Given the description of an element on the screen output the (x, y) to click on. 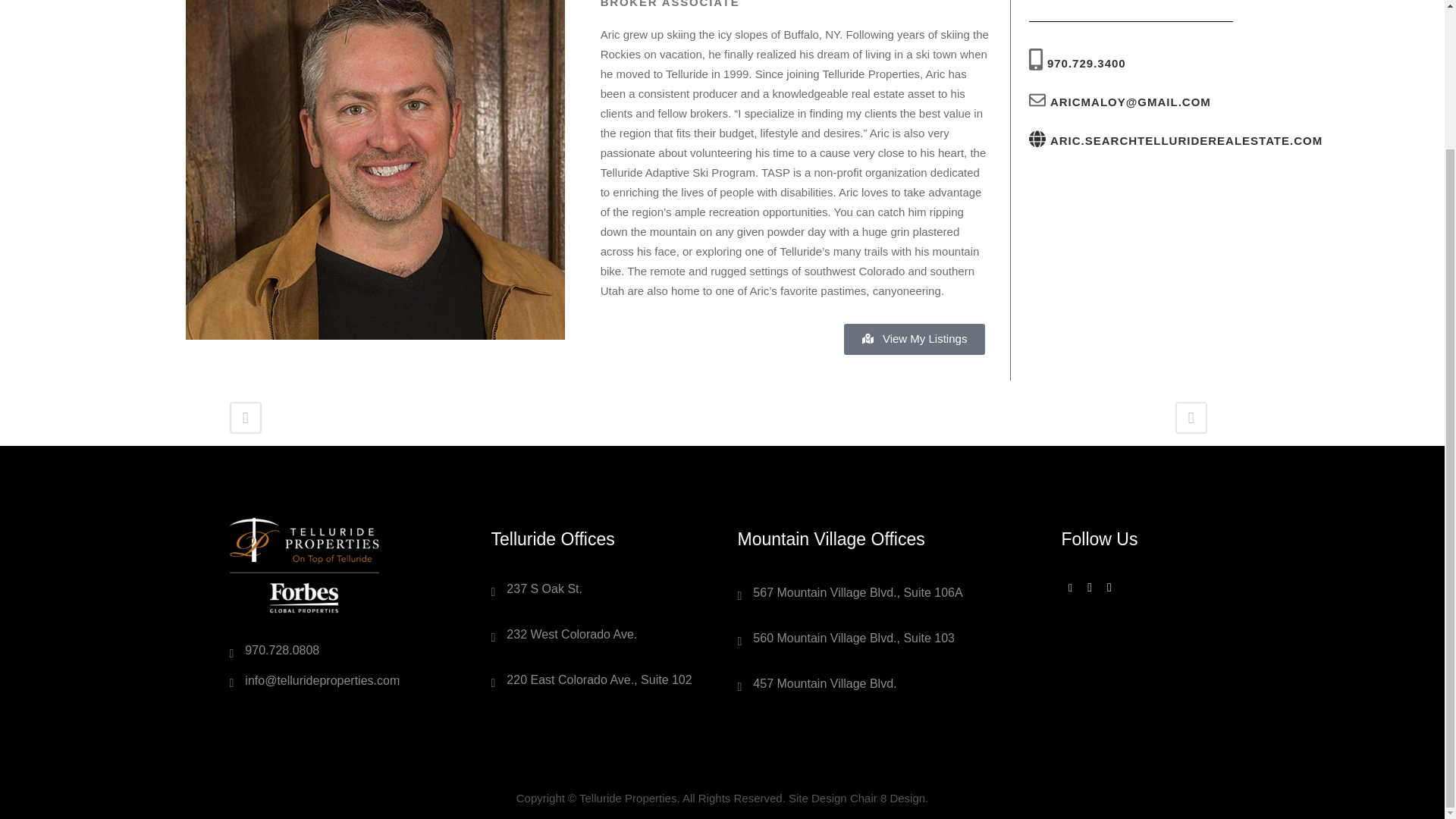
970.729.3400 (1085, 62)
View My Listings (914, 338)
